Given the description of an element on the screen output the (x, y) to click on. 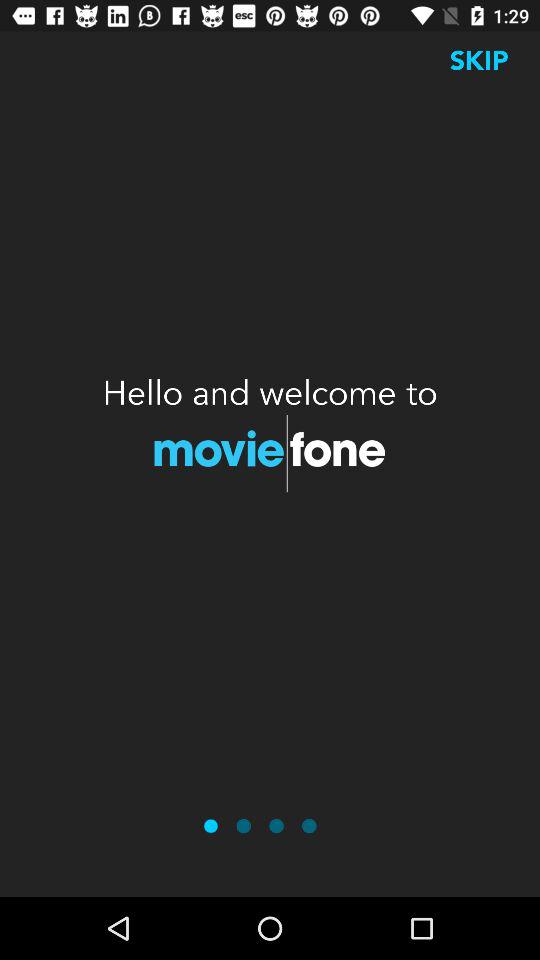
turn on the skip at the top right corner (479, 60)
